Given the description of an element on the screen output the (x, y) to click on. 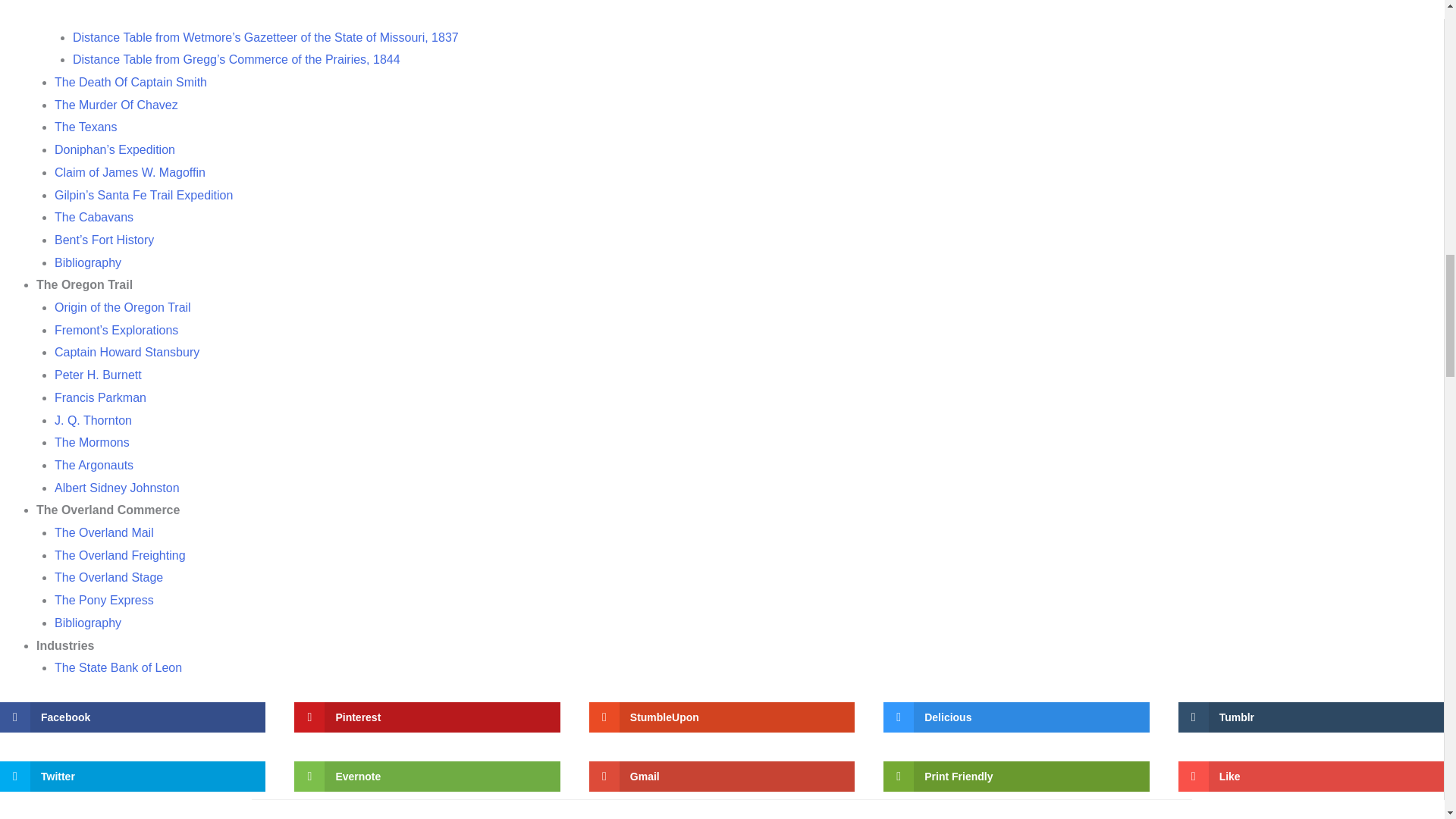
The Course of the Santa Fe Trail (142, 14)
